Given the description of an element on the screen output the (x, y) to click on. 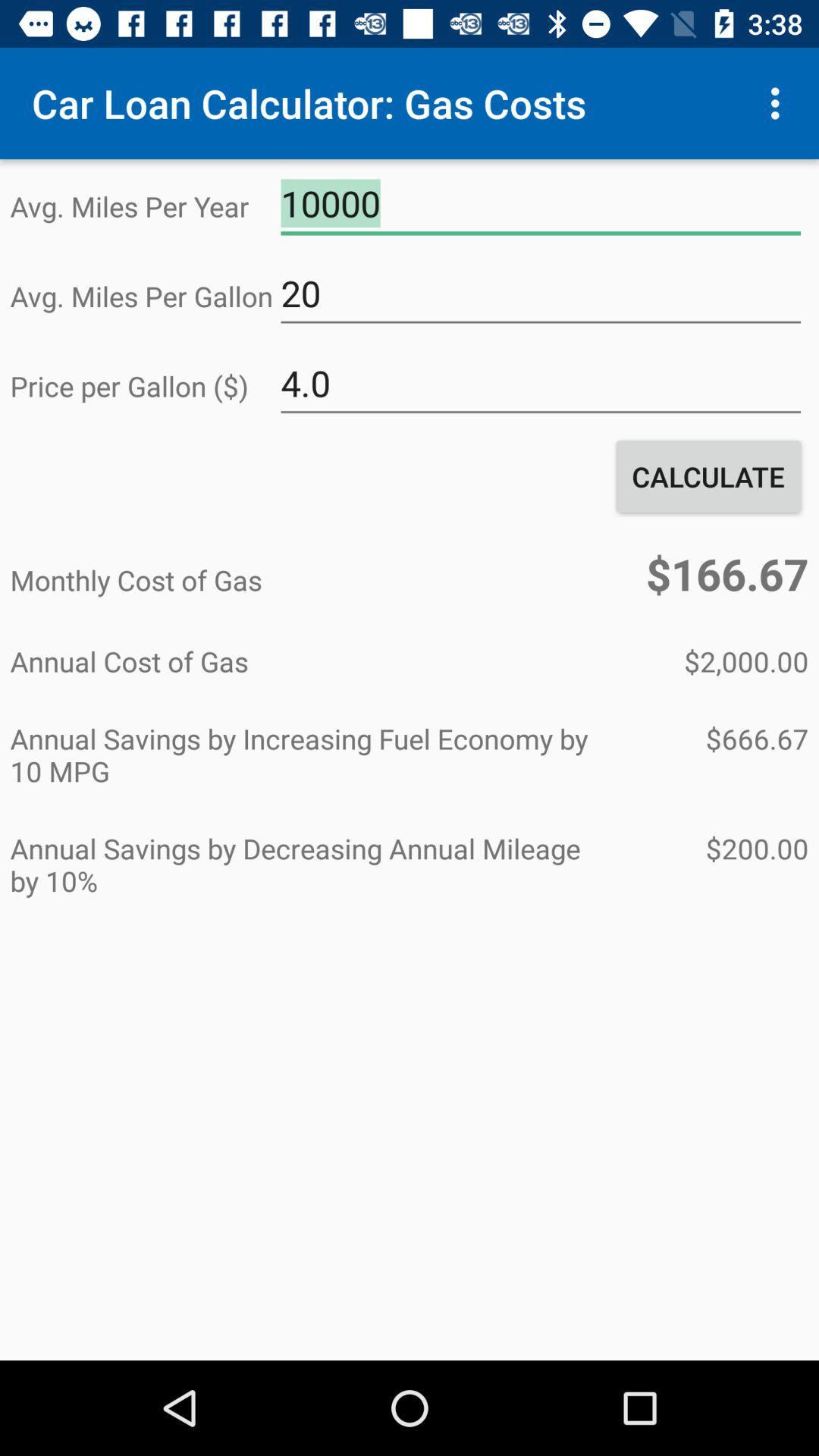
select the icon to the right of the avg miles per (540, 204)
